Given the description of an element on the screen output the (x, y) to click on. 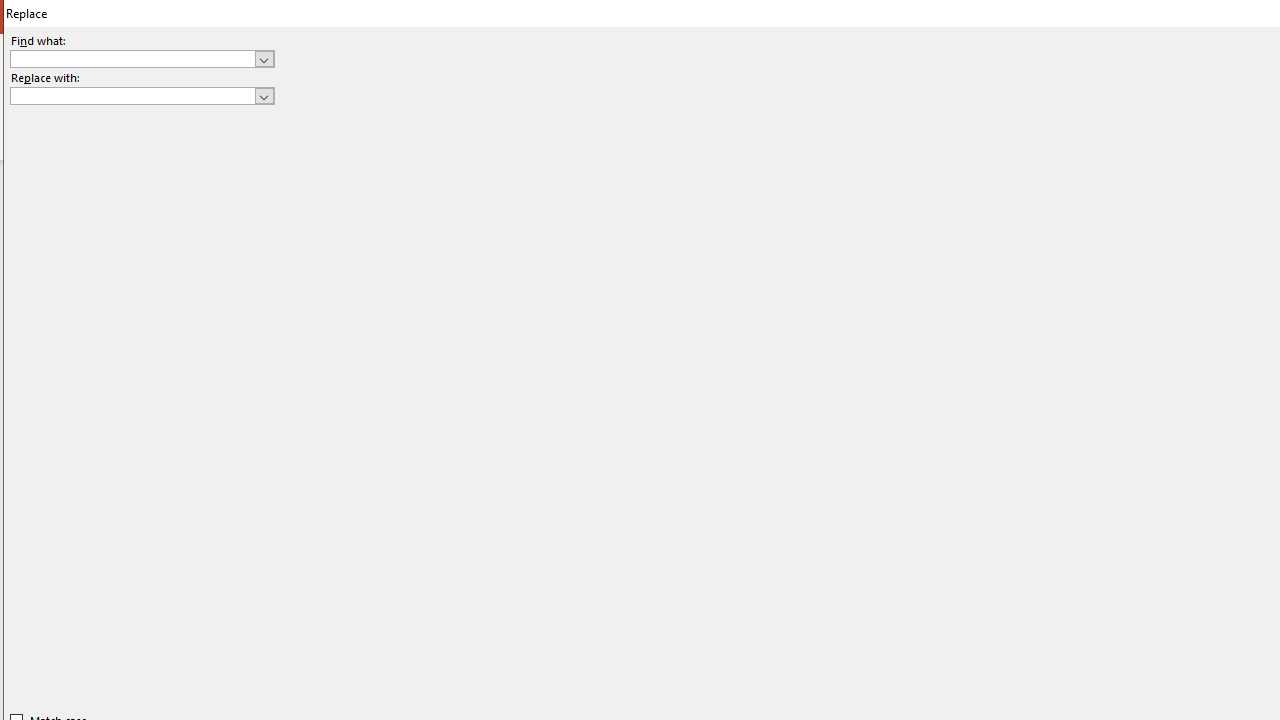
Find what (142, 58)
Find what (132, 58)
Replace with (132, 95)
Replace with (142, 96)
